Given the description of an element on the screen output the (x, y) to click on. 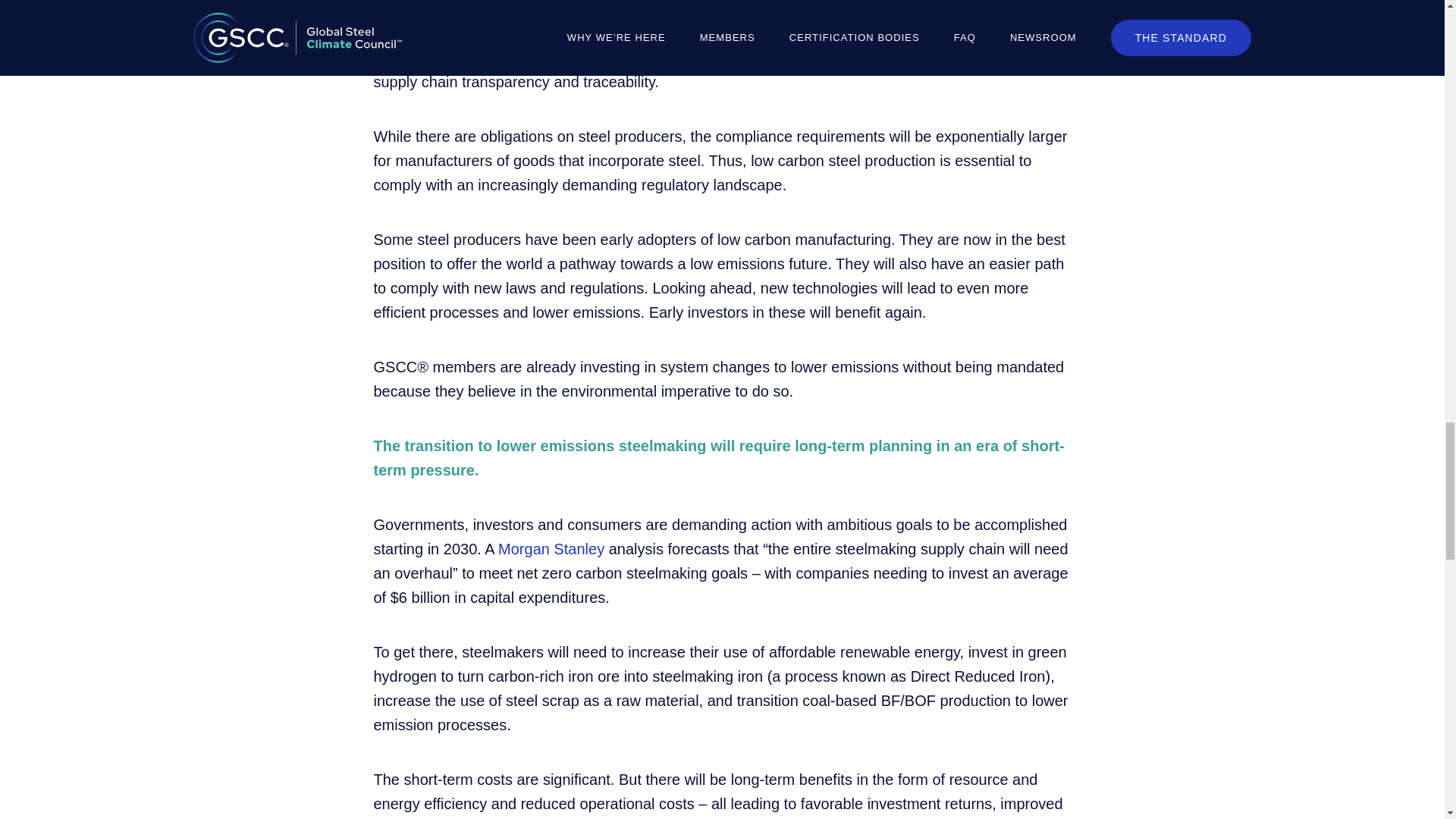
Morgan Stanley (550, 548)
